Given the description of an element on the screen output the (x, y) to click on. 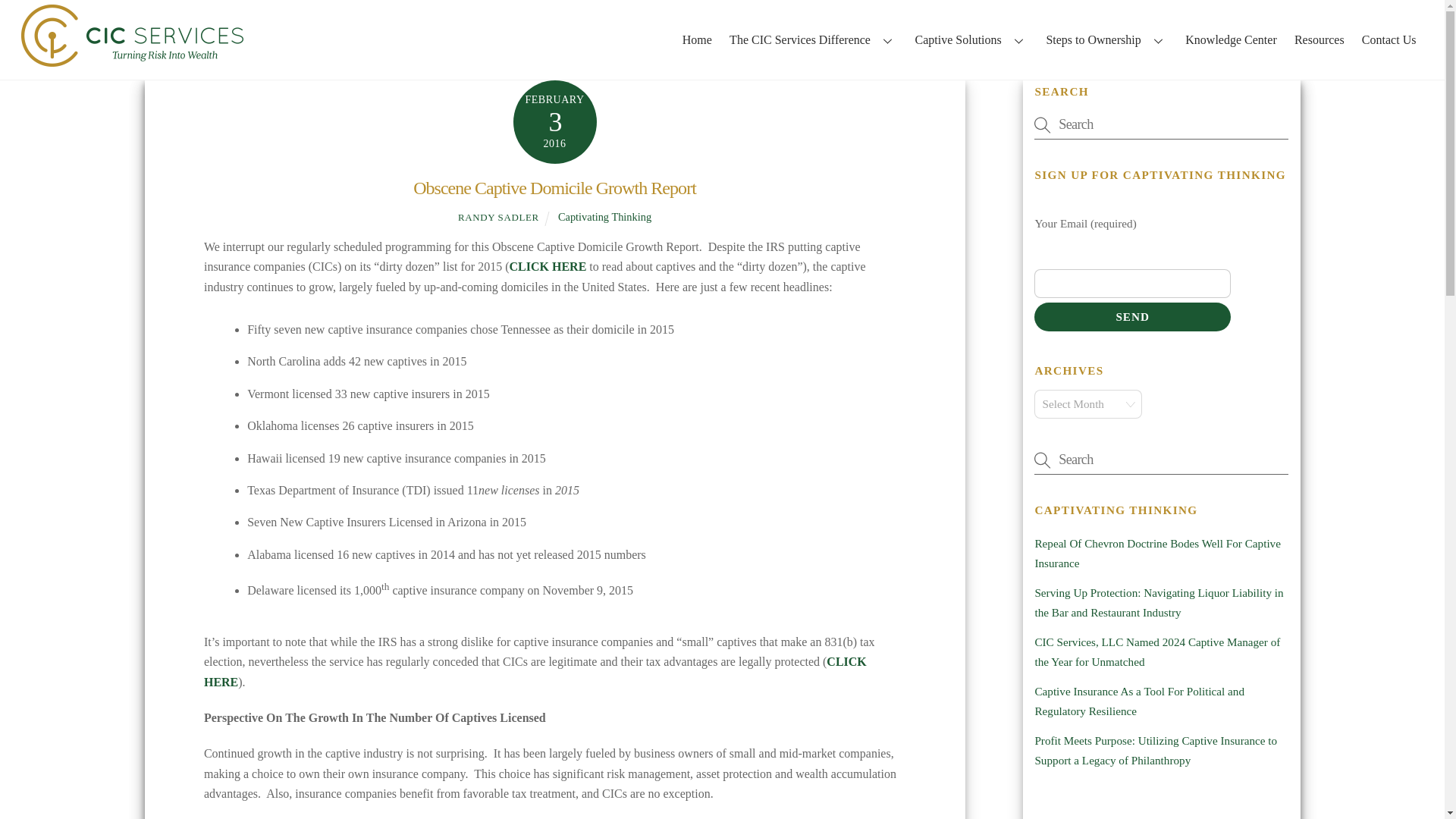
Send (1131, 316)
Resources (1319, 39)
Send (1131, 316)
RANDY SADLER (498, 216)
Home (697, 39)
The CIC Services Difference (813, 39)
Contact Us (1388, 39)
Search (1160, 124)
Captive Solutions (971, 39)
